Given the description of an element on the screen output the (x, y) to click on. 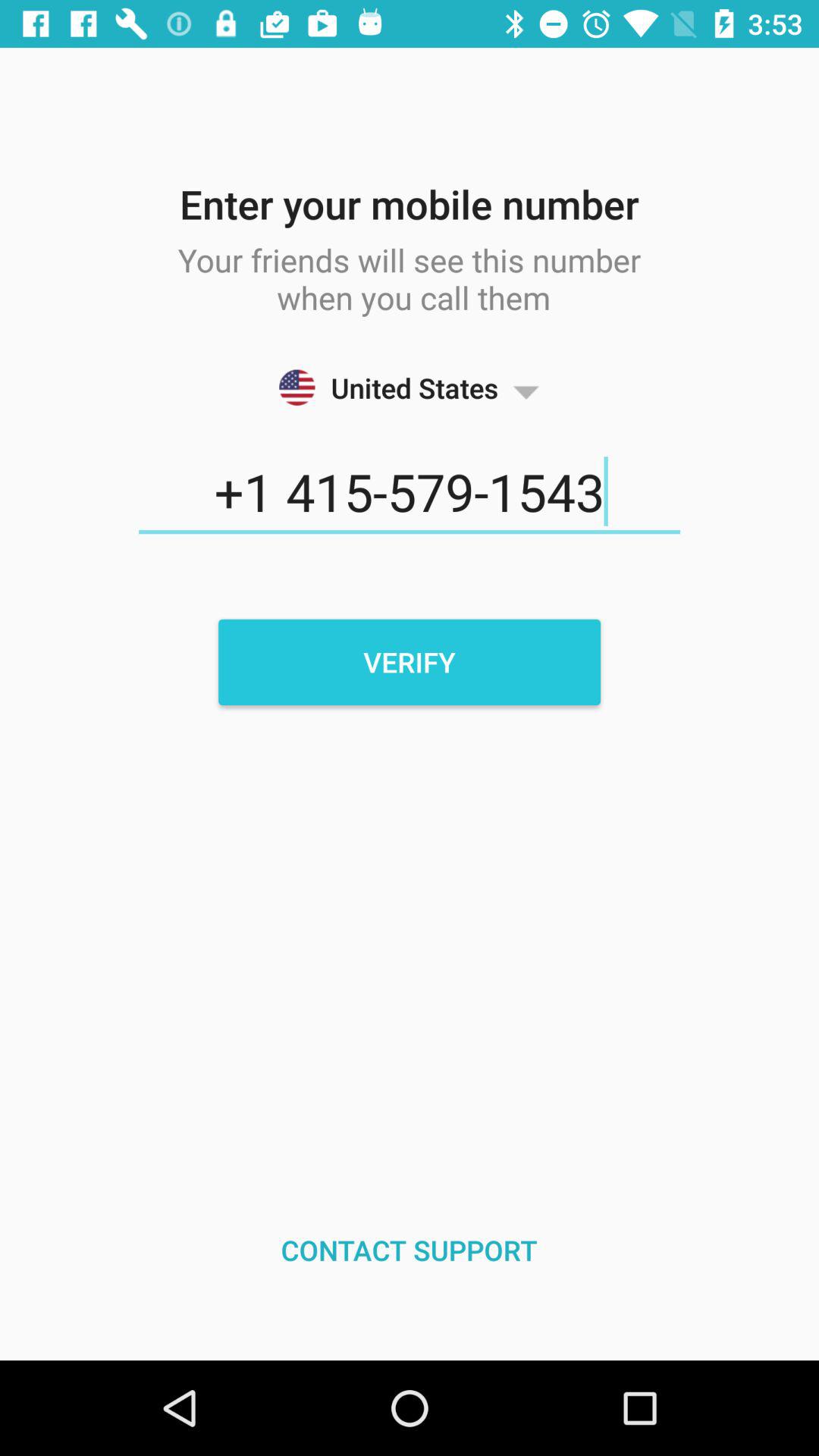
open verify icon (409, 662)
